Given the description of an element on the screen output the (x, y) to click on. 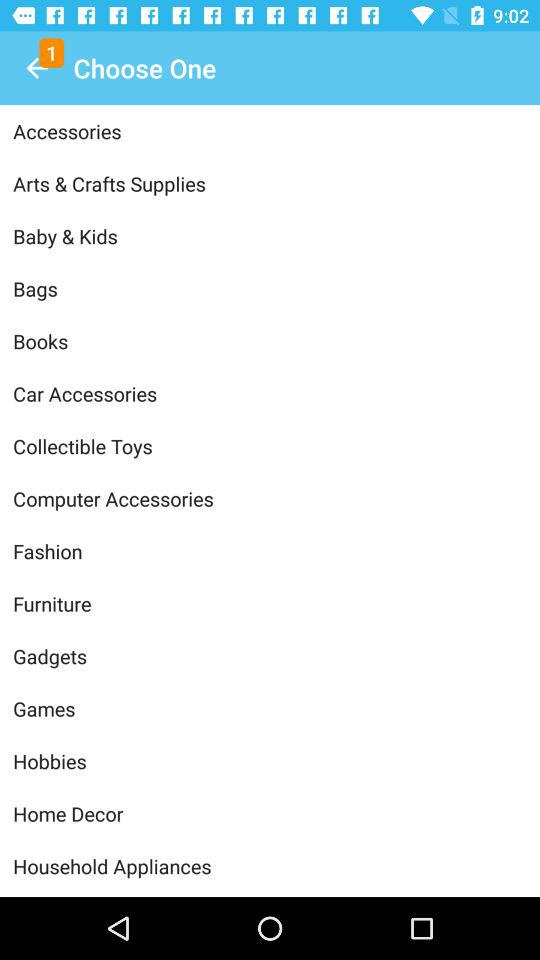
click home decor item (269, 813)
